Given the description of an element on the screen output the (x, y) to click on. 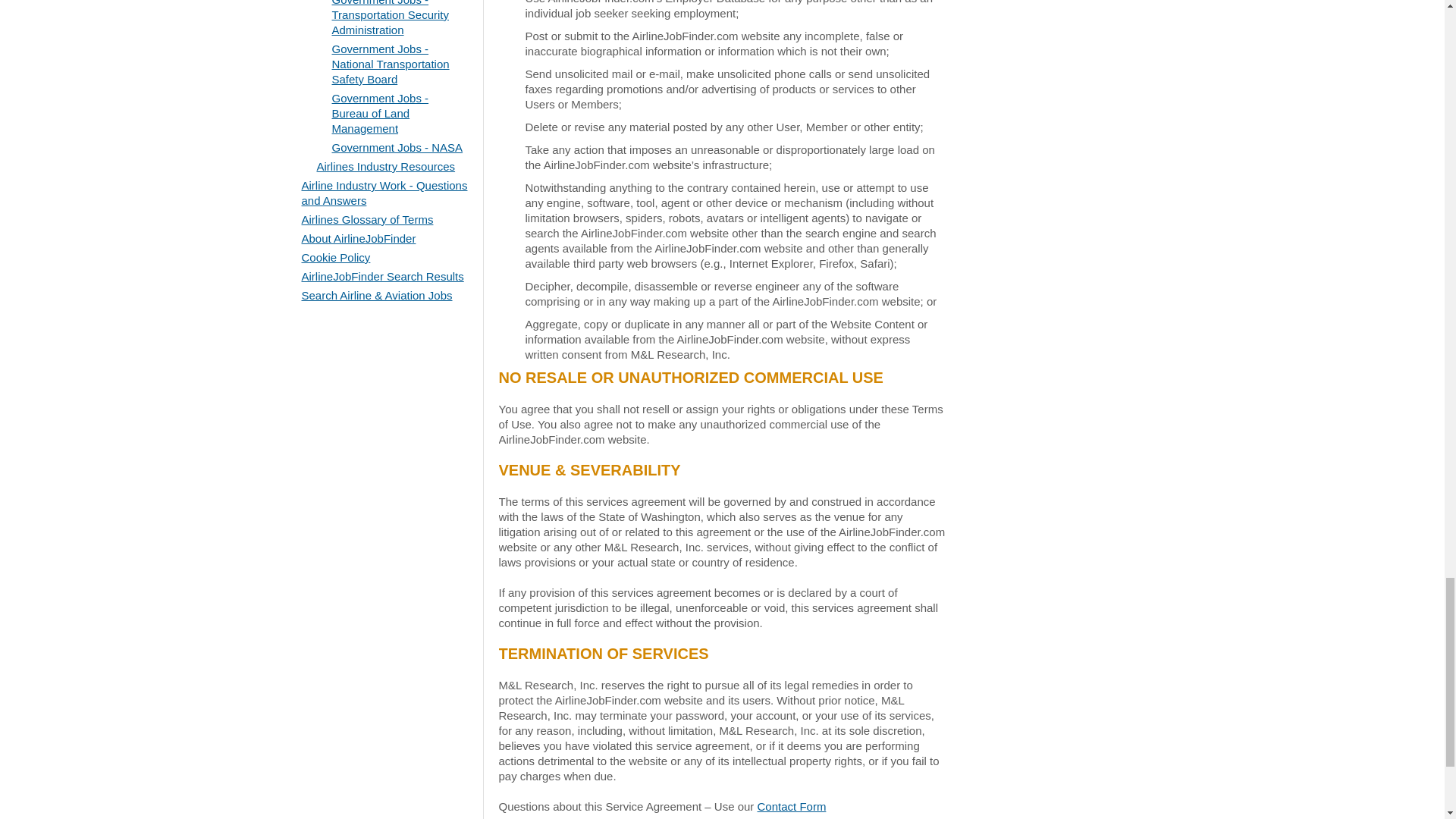
Contact Form (792, 806)
